Given the description of an element on the screen output the (x, y) to click on. 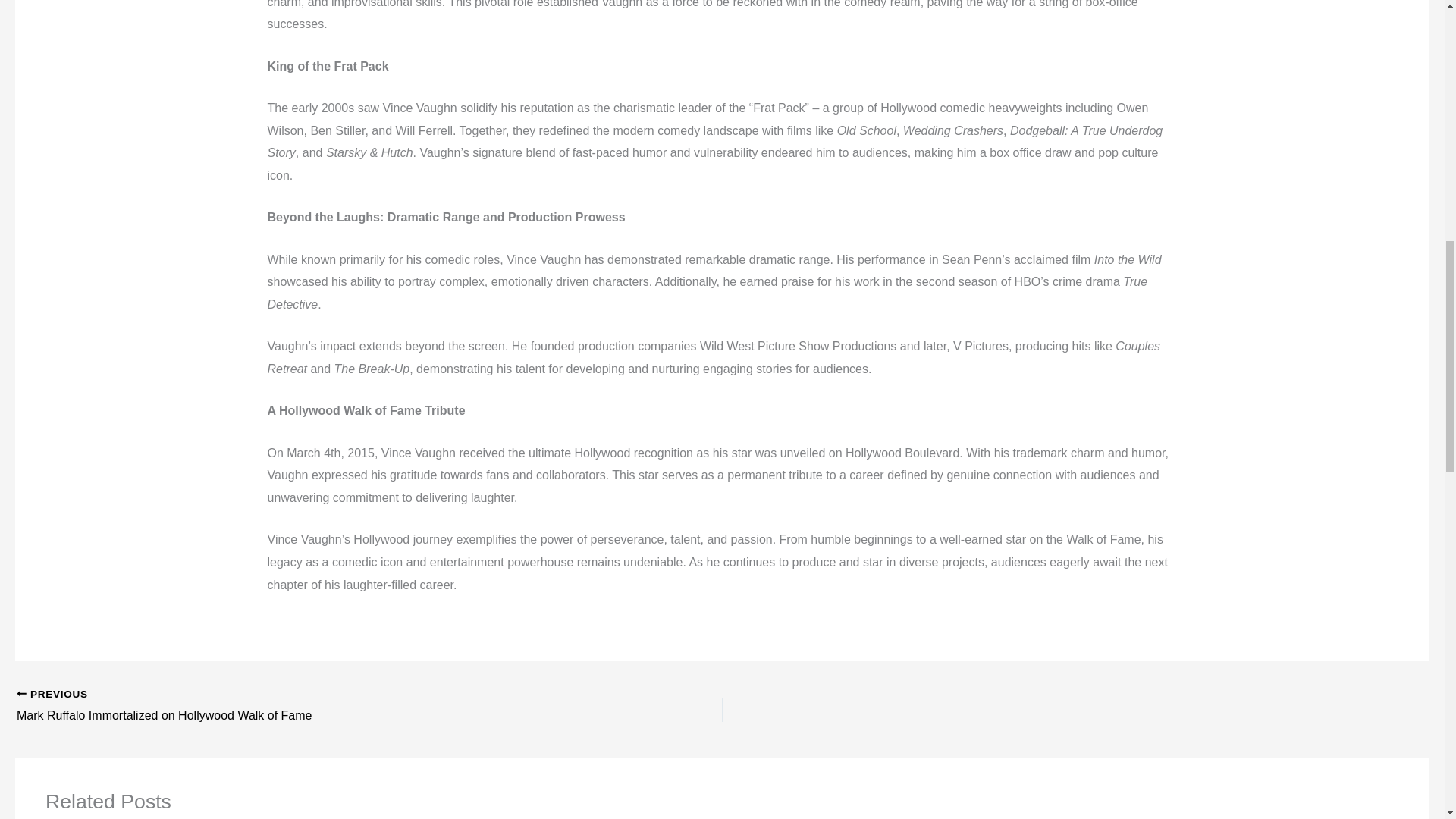
Mark Ruffalo Immortalized on Hollywood Walk of Fame (299, 706)
